Given the description of an element on the screen output the (x, y) to click on. 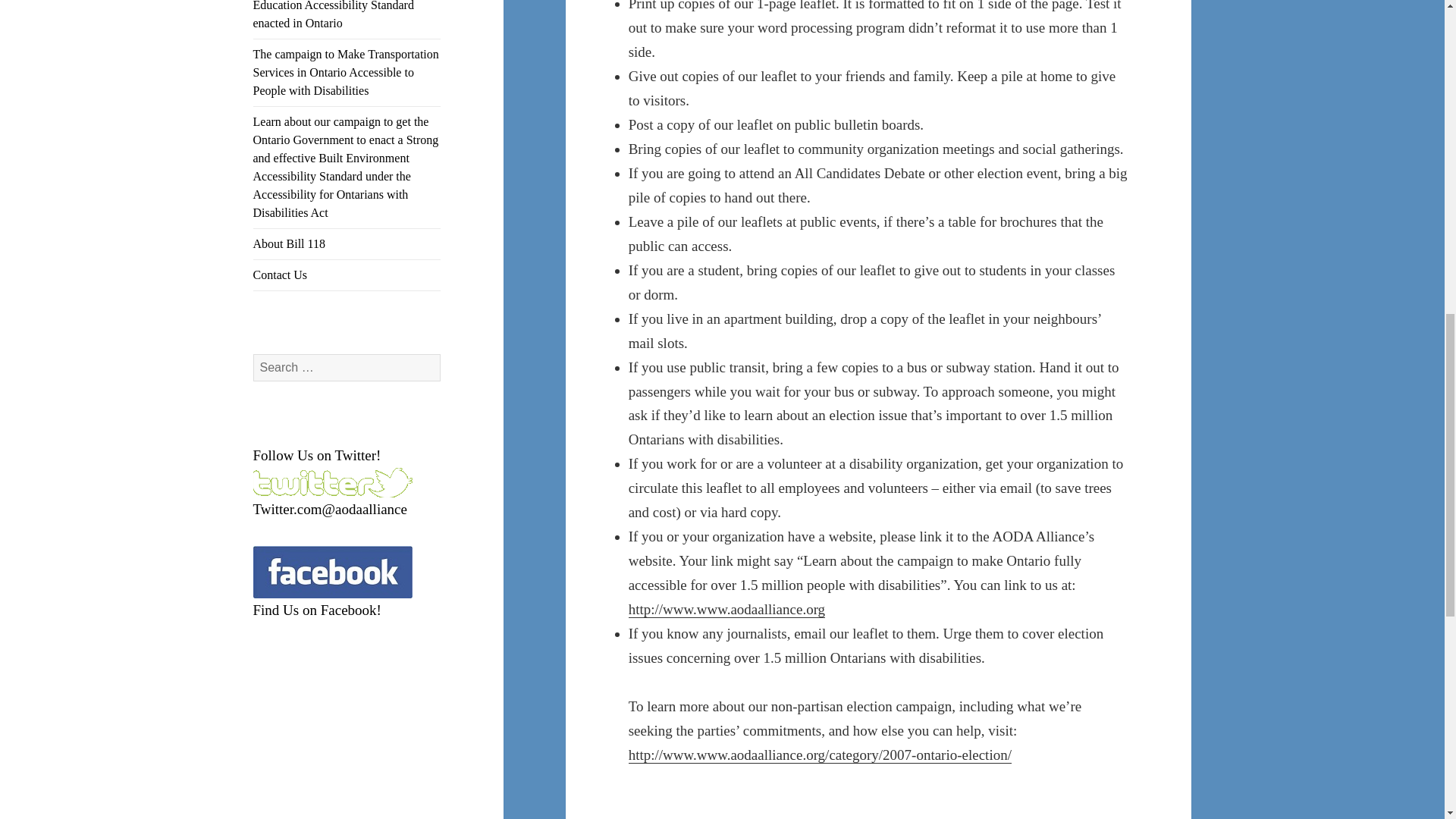
Visit the AODA Alliance website, www.www.aodaalliance.org (726, 609)
Follow Us on Twitter! (317, 455)
Find Us on Facebook! (317, 609)
About Bill 118 (347, 244)
Contact Us (347, 275)
